Given the description of an element on the screen output the (x, y) to click on. 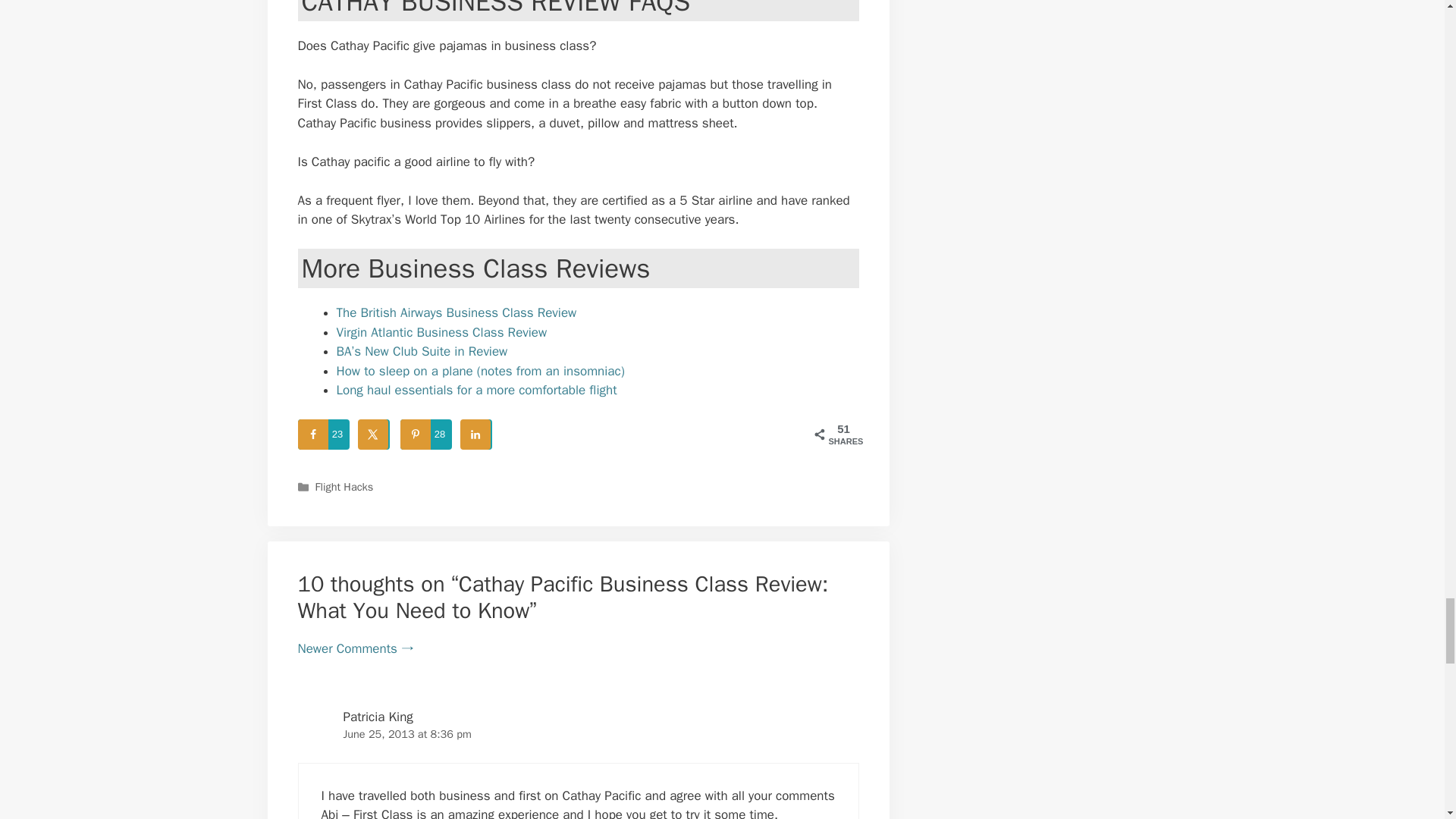
Save to Pinterest (425, 434)
Share on Facebook (323, 434)
Share on LinkedIn (476, 434)
Share on X (374, 434)
